Given the description of an element on the screen output the (x, y) to click on. 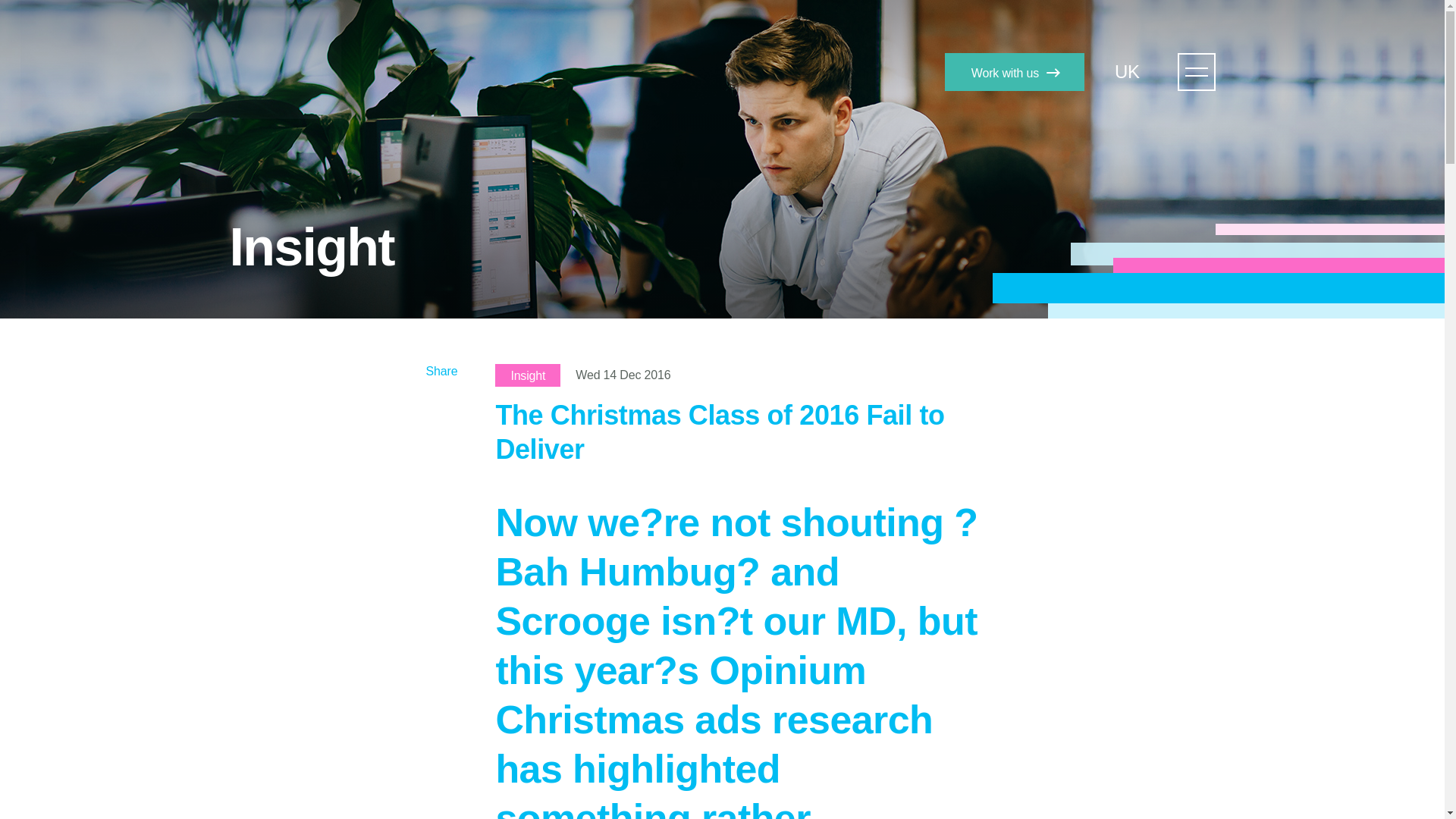
Insight (527, 374)
UK (1134, 71)
Work with us (1014, 71)
